Given the description of an element on the screen output the (x, y) to click on. 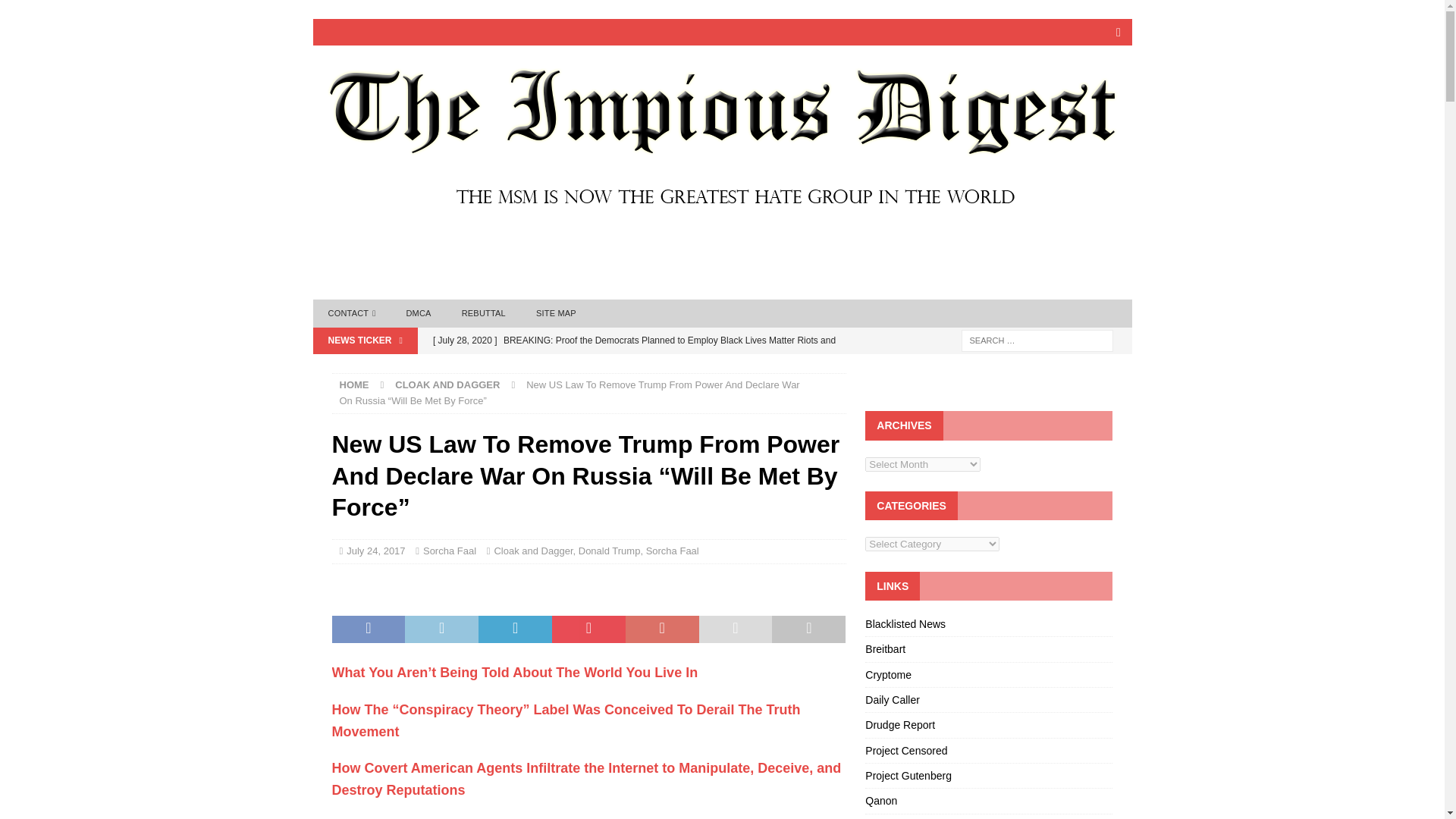
FOREIGN AFFAIRS (780, 250)
INVESTIGATIONS (1054, 250)
The Impious Digest (722, 226)
GRATUITOUS IMPIETY (917, 250)
CONTACT (586, 250)
CLOAK AND DAGGER (465, 250)
HISTORY (355, 282)
NEWS (562, 282)
NATIONAL AFFAIRS (464, 282)
ECONOMY (673, 250)
